Given the description of an element on the screen output the (x, y) to click on. 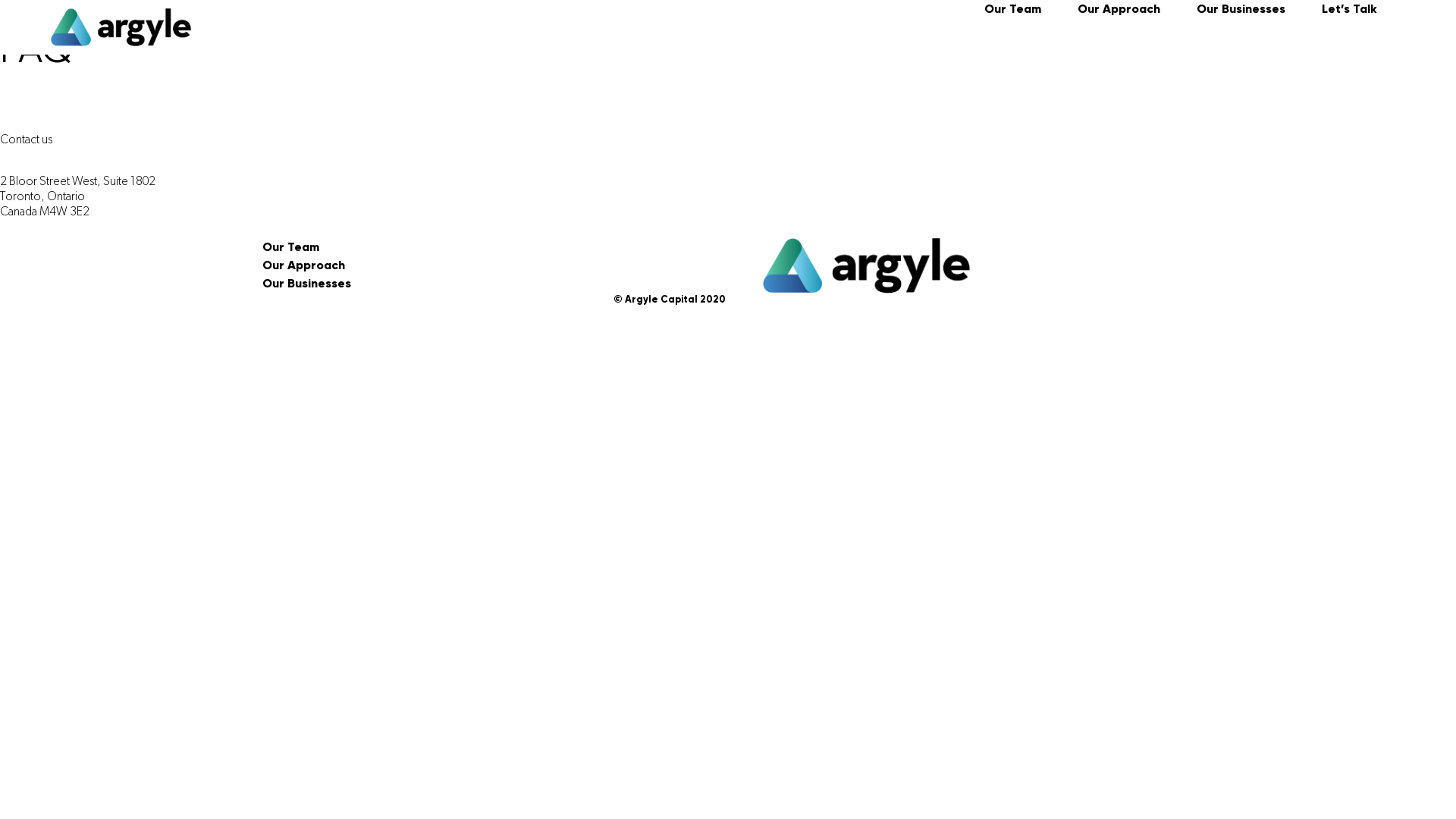
Our Businesses Element type: text (1240, 9)
Our Businesses Element type: text (306, 283)
Our Approach Element type: text (1118, 9)
Our Approach Element type: text (303, 264)
Our Team Element type: text (290, 246)
Argyle Capital Element type: text (74, 80)
Our Team Element type: text (1012, 9)
